Given the description of an element on the screen output the (x, y) to click on. 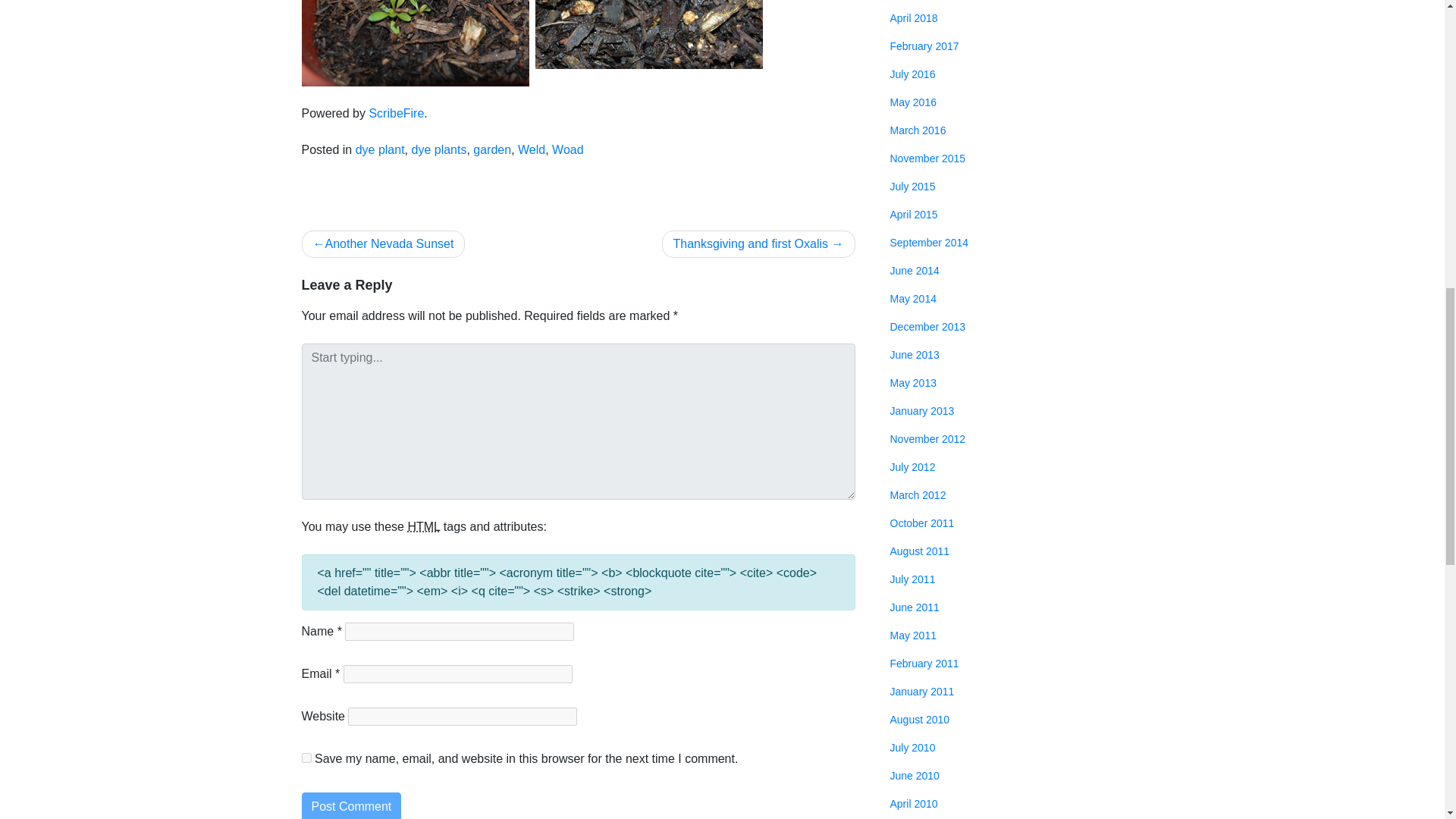
yes (306, 757)
Thanksgiving and first Oxalis (759, 243)
HyperText Markup Language (423, 526)
Woad (567, 149)
Another Nevada Sunset (383, 243)
Post Comment (351, 805)
dye plants (437, 149)
Weld (531, 149)
Post Comment (351, 805)
dye plant (379, 149)
